Given the description of an element on the screen output the (x, y) to click on. 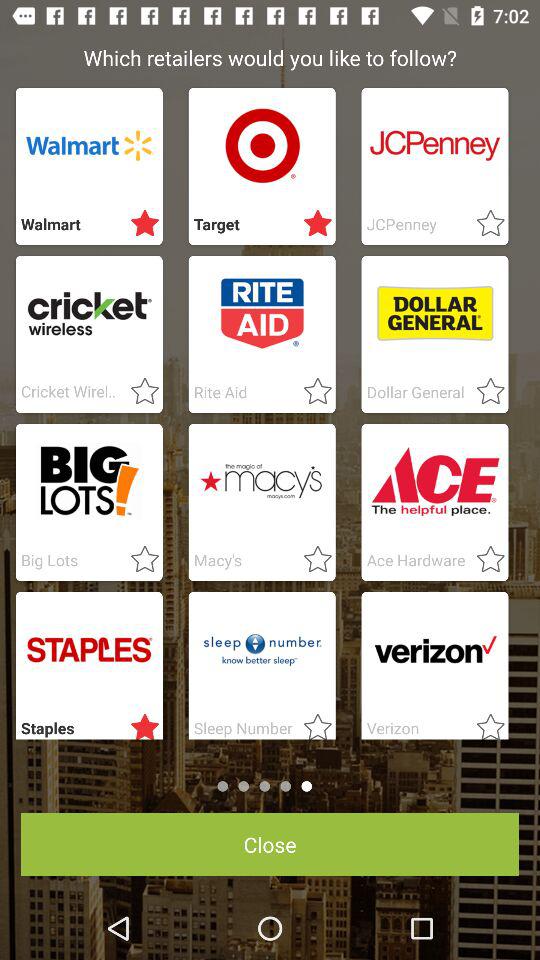
starred (312, 224)
